Given the description of an element on the screen output the (x, y) to click on. 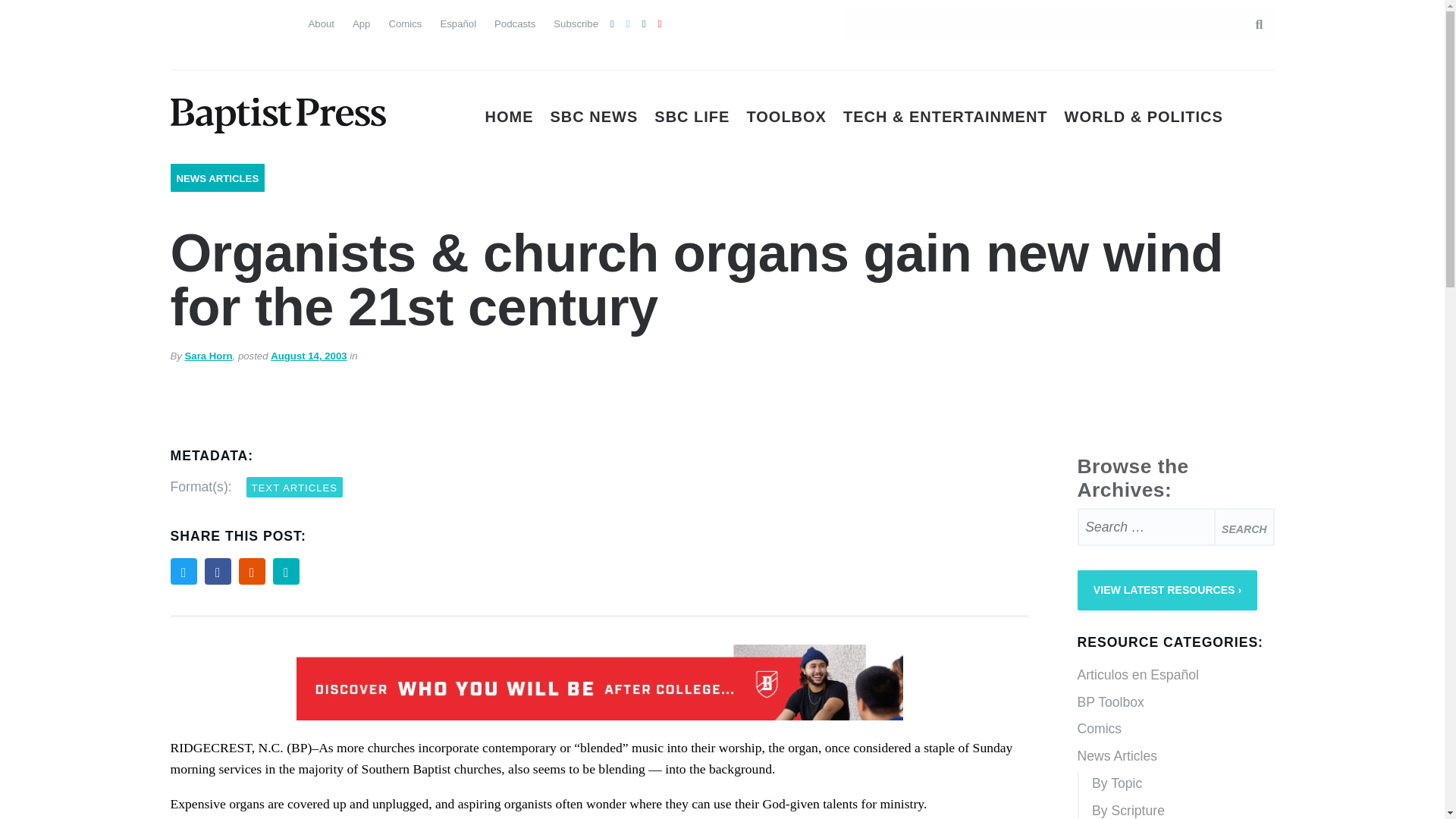
English (182, 21)
Search (1251, 24)
About (320, 23)
Haitian (182, 51)
NEWS ARTICLES (217, 178)
VIEW LATEST RESOURCES (1167, 590)
BP Toolbox (1175, 703)
Podcasts (515, 23)
App (360, 23)
August 14, 2003 (308, 355)
Portuguese (237, 21)
HOME (509, 116)
Korean (237, 51)
TOOLBOX (786, 116)
Spanish (209, 21)
